Given the description of an element on the screen output the (x, y) to click on. 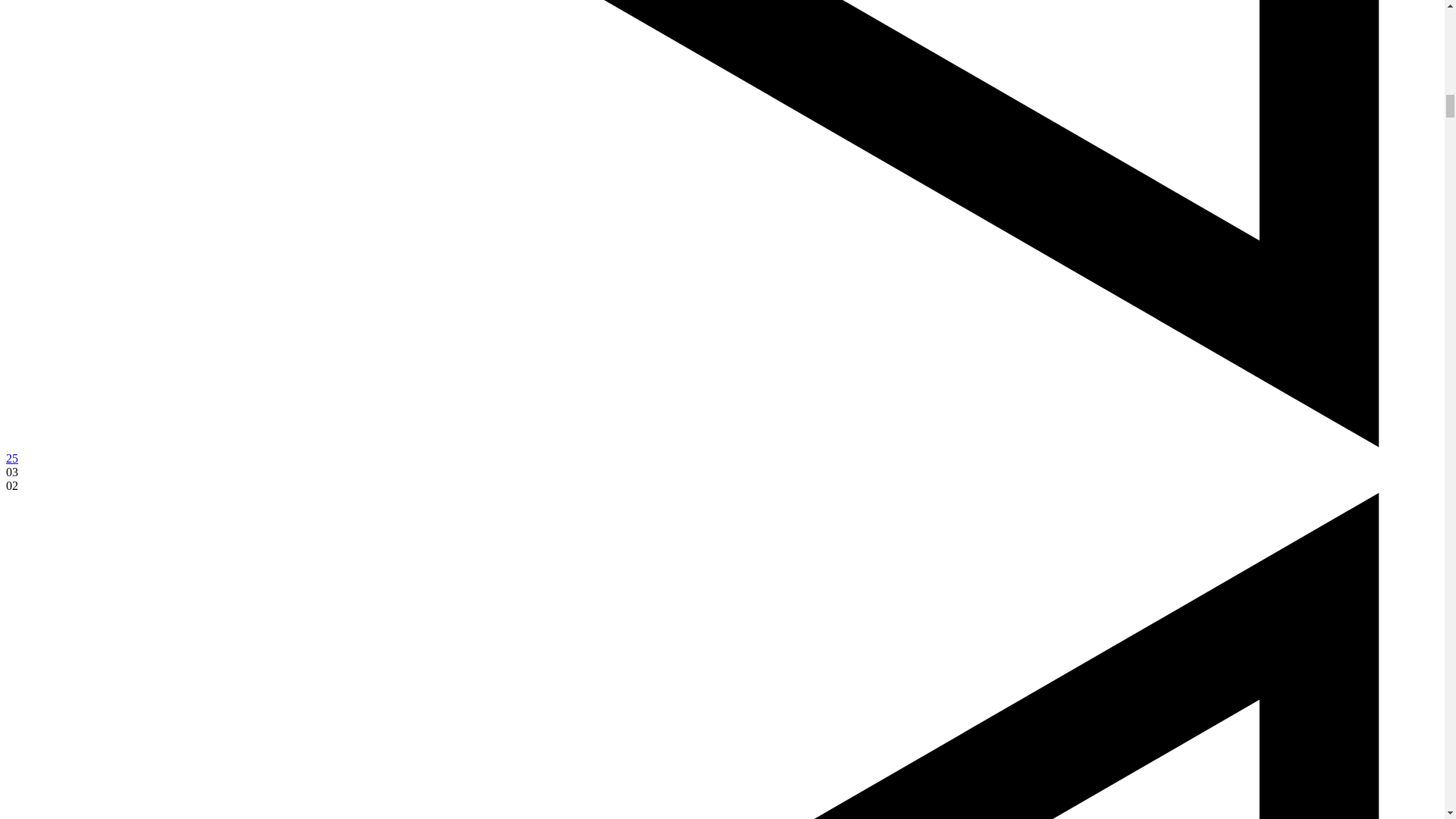
25 (11, 458)
